Given the description of an element on the screen output the (x, y) to click on. 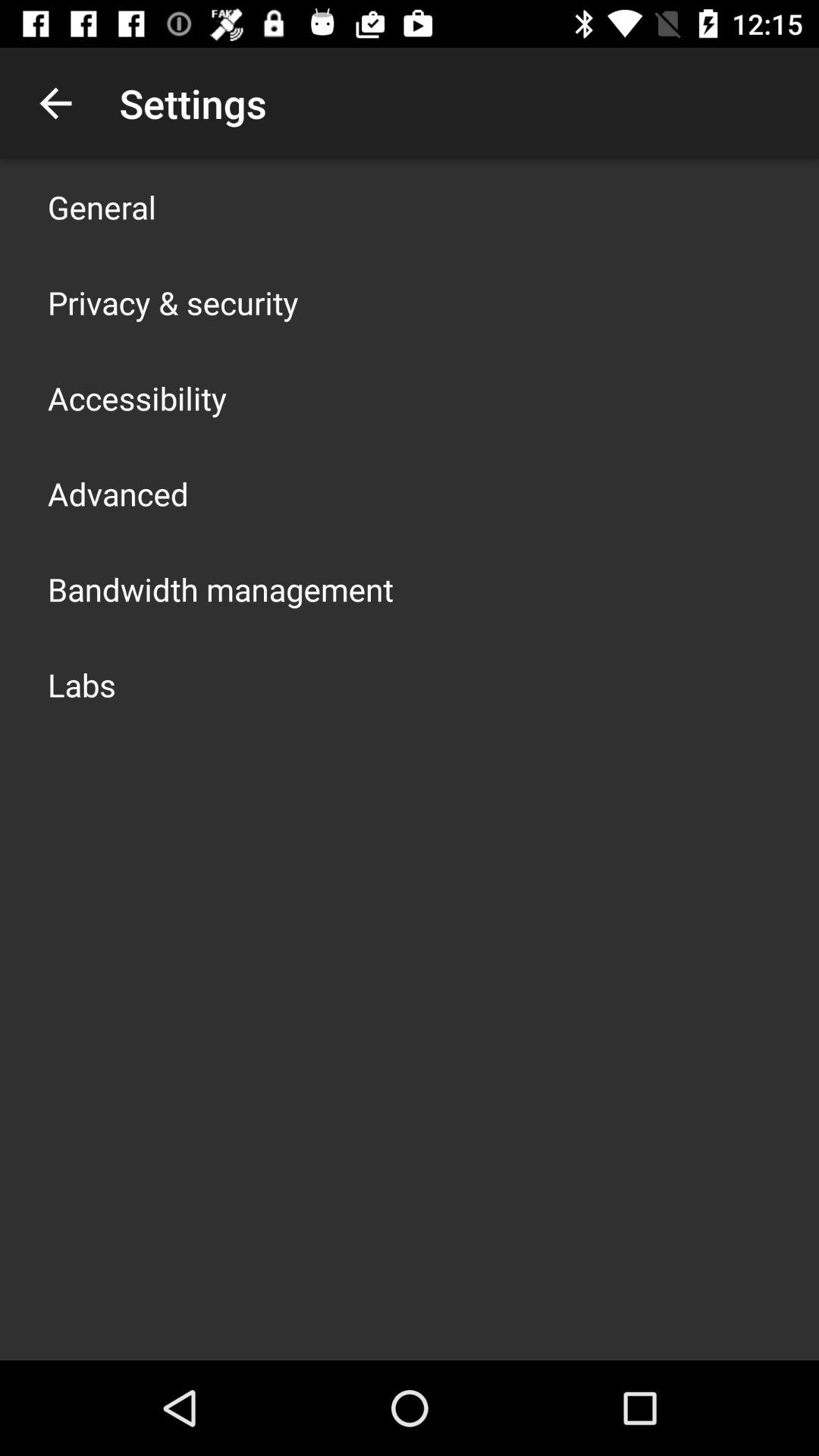
turn on the item above the accessibility app (172, 302)
